Given the description of an element on the screen output the (x, y) to click on. 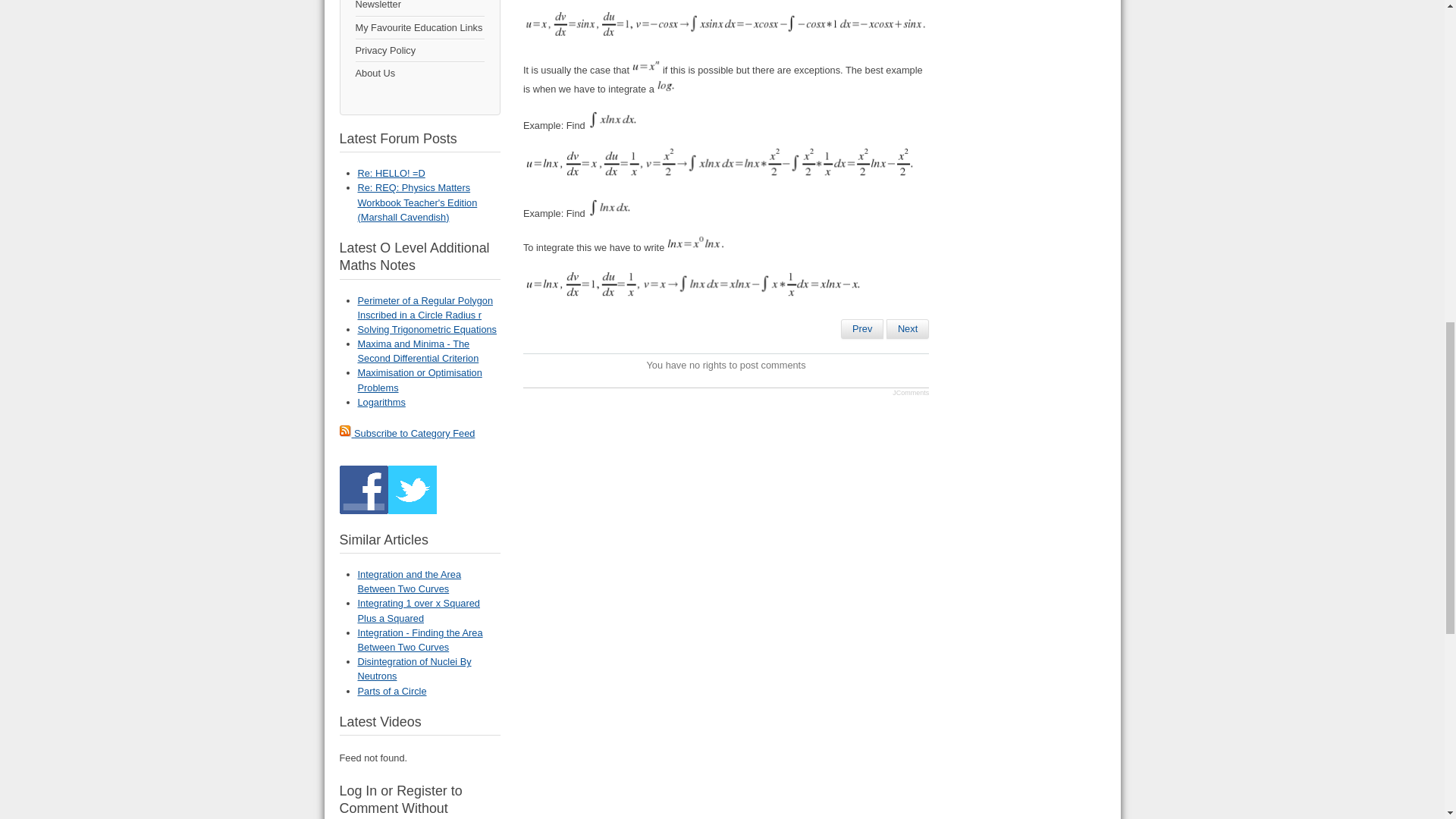
My Favourite Education Links (419, 27)
About Us (419, 73)
Inverting a Function (907, 329)
JComments (910, 392)
Newsletter (419, 7)
Integration and the Area Between Two Curves (862, 329)
Privacy Policy (419, 50)
